Given the description of an element on the screen output the (x, y) to click on. 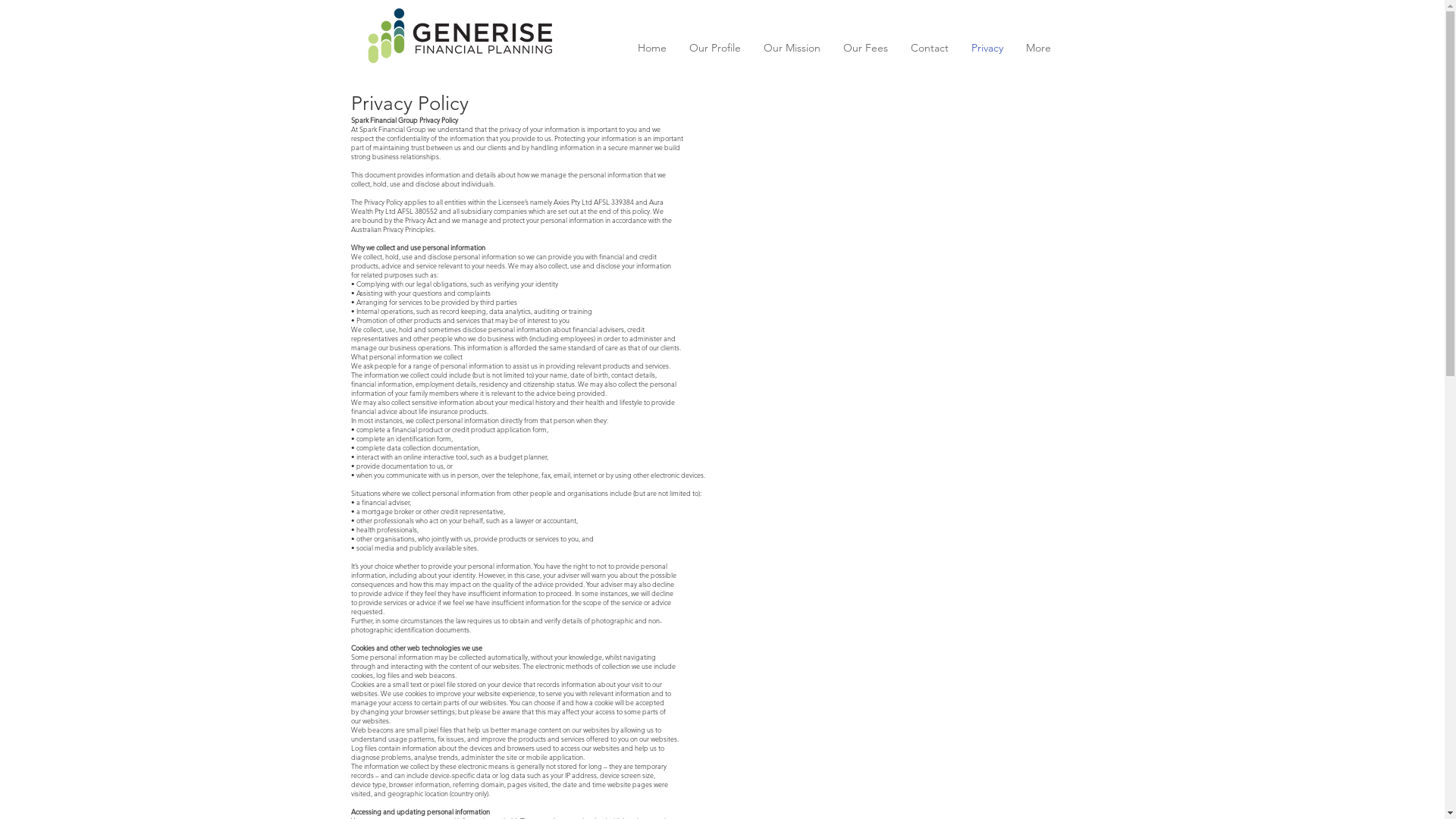
Privacy Element type: text (987, 52)
Contact Element type: text (929, 52)
Our Mission Element type: text (791, 52)
Our Fees Element type: text (864, 52)
Our Profile Element type: text (714, 52)
Home Element type: text (651, 52)
